Given the description of an element on the screen output the (x, y) to click on. 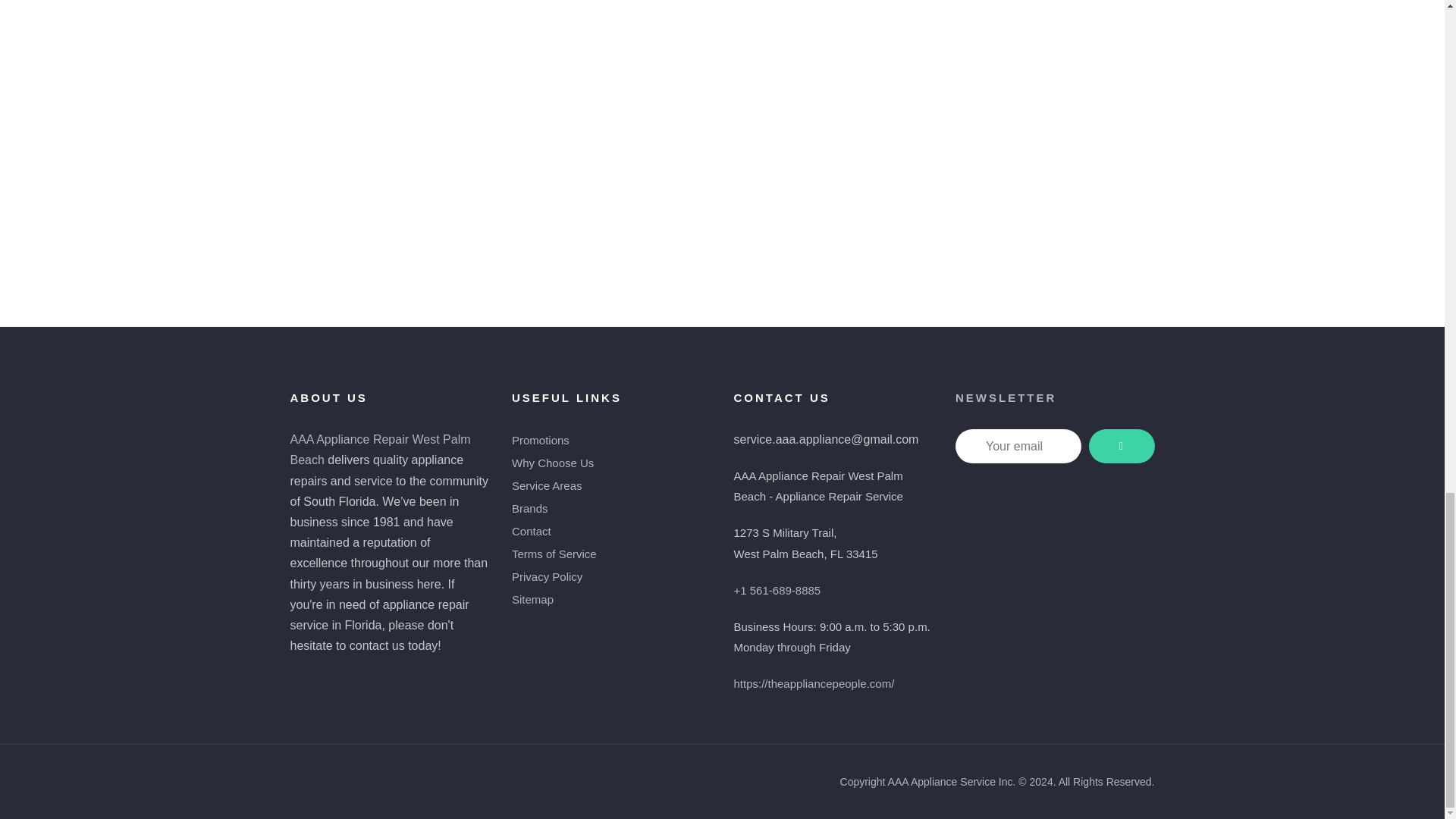
Aaa appliance service logo. (1011, 559)
